Given the description of an element on the screen output the (x, y) to click on. 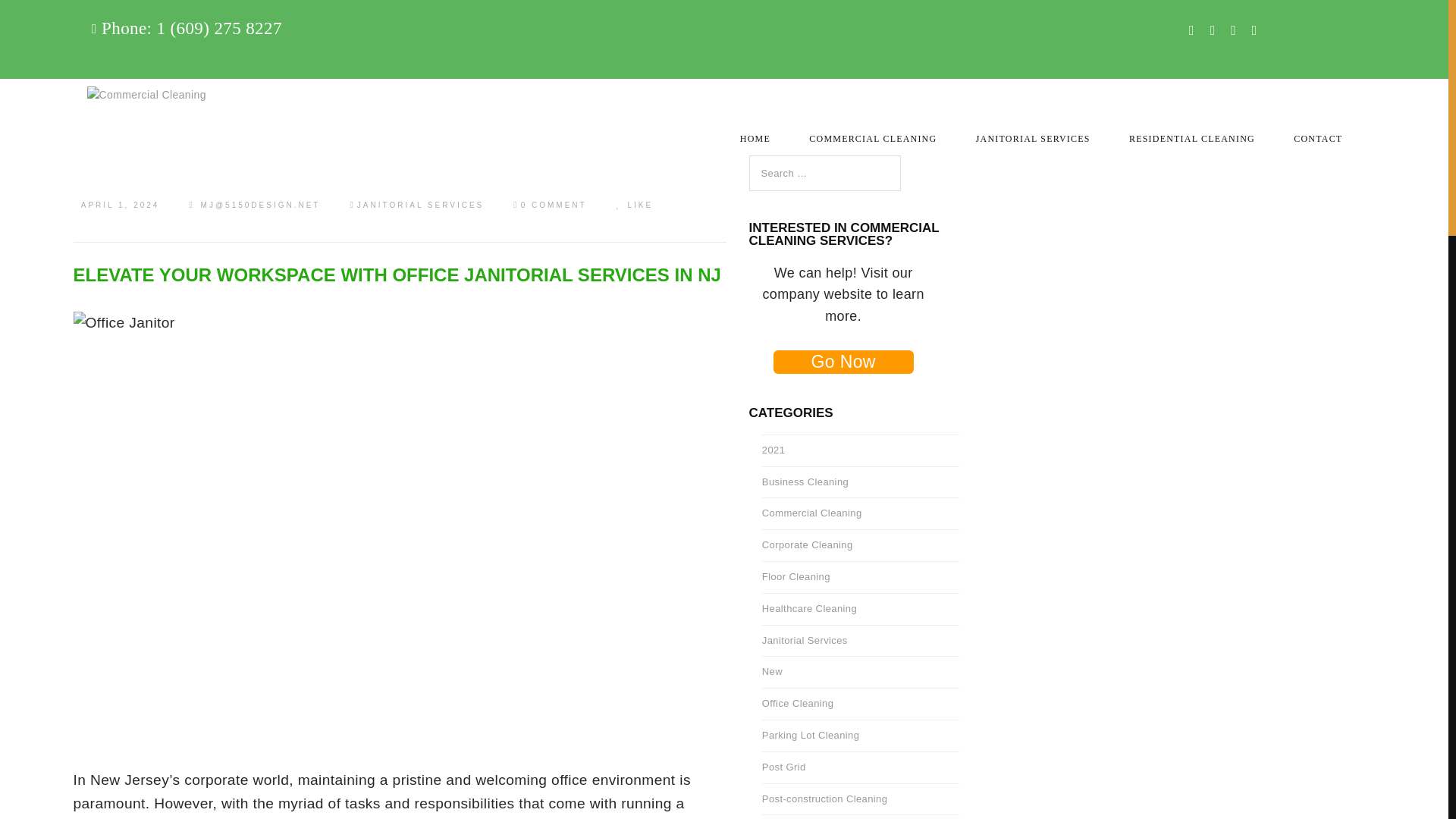
COMMERCIAL CLEANING (872, 129)
Home (107, 18)
CONTACT (1317, 129)
Like (633, 205)
HOME (754, 129)
RESIDENTIAL CLEANING (1192, 129)
JANITORIAL SERVICES (1032, 129)
Commercial Cleaning (107, 53)
Janitorial Services (107, 89)
Contact (107, 159)
Residential Cleaning (107, 123)
